Given the description of an element on the screen output the (x, y) to click on. 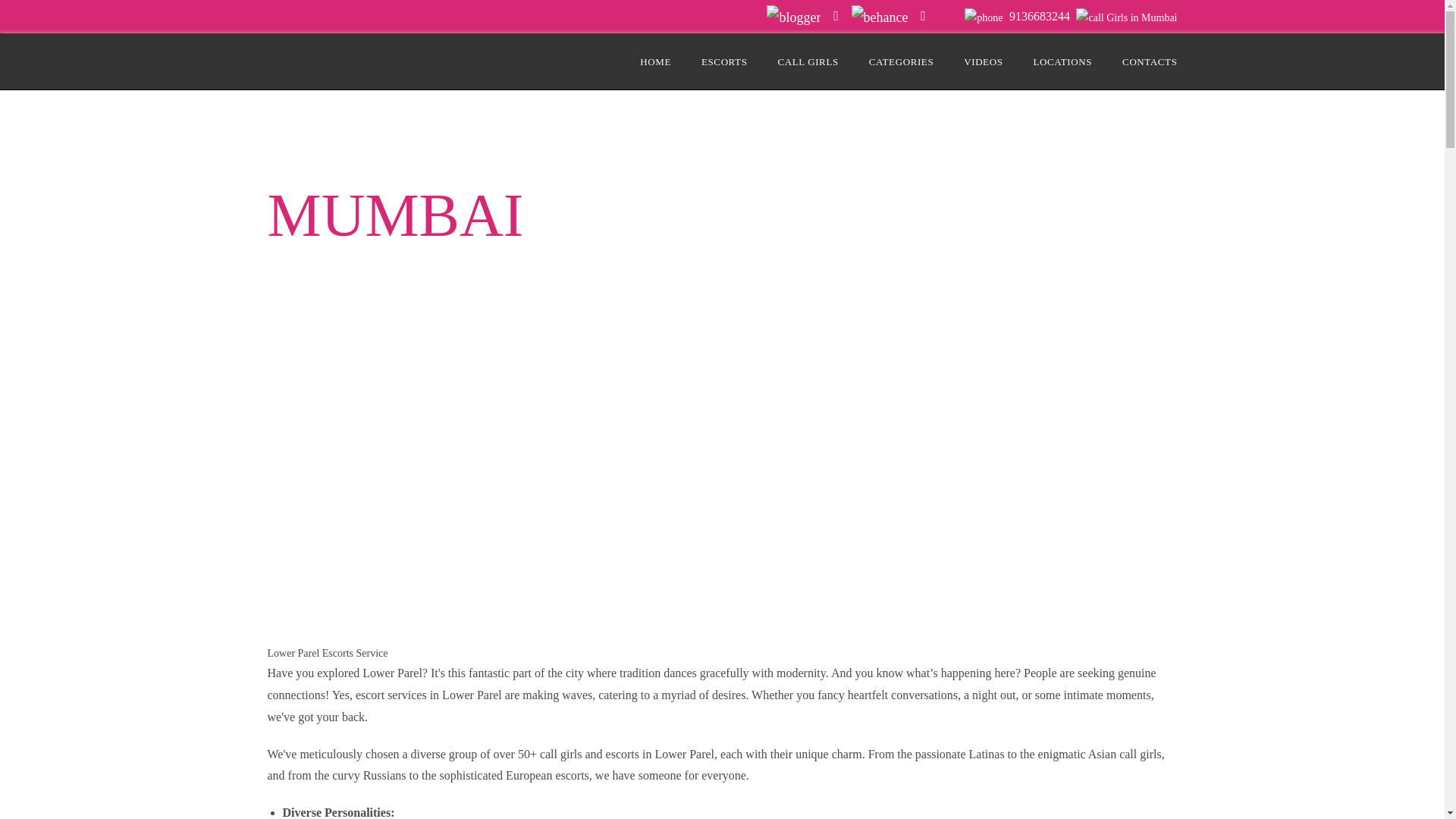
9136683244 (1039, 15)
VIDEOS (983, 61)
LOCATIONS (1062, 61)
CATEGORIES (901, 61)
ESCORTS (724, 61)
CONTACTS (1149, 61)
HOME (655, 61)
CALL GIRLS (807, 61)
